Given the description of an element on the screen output the (x, y) to click on. 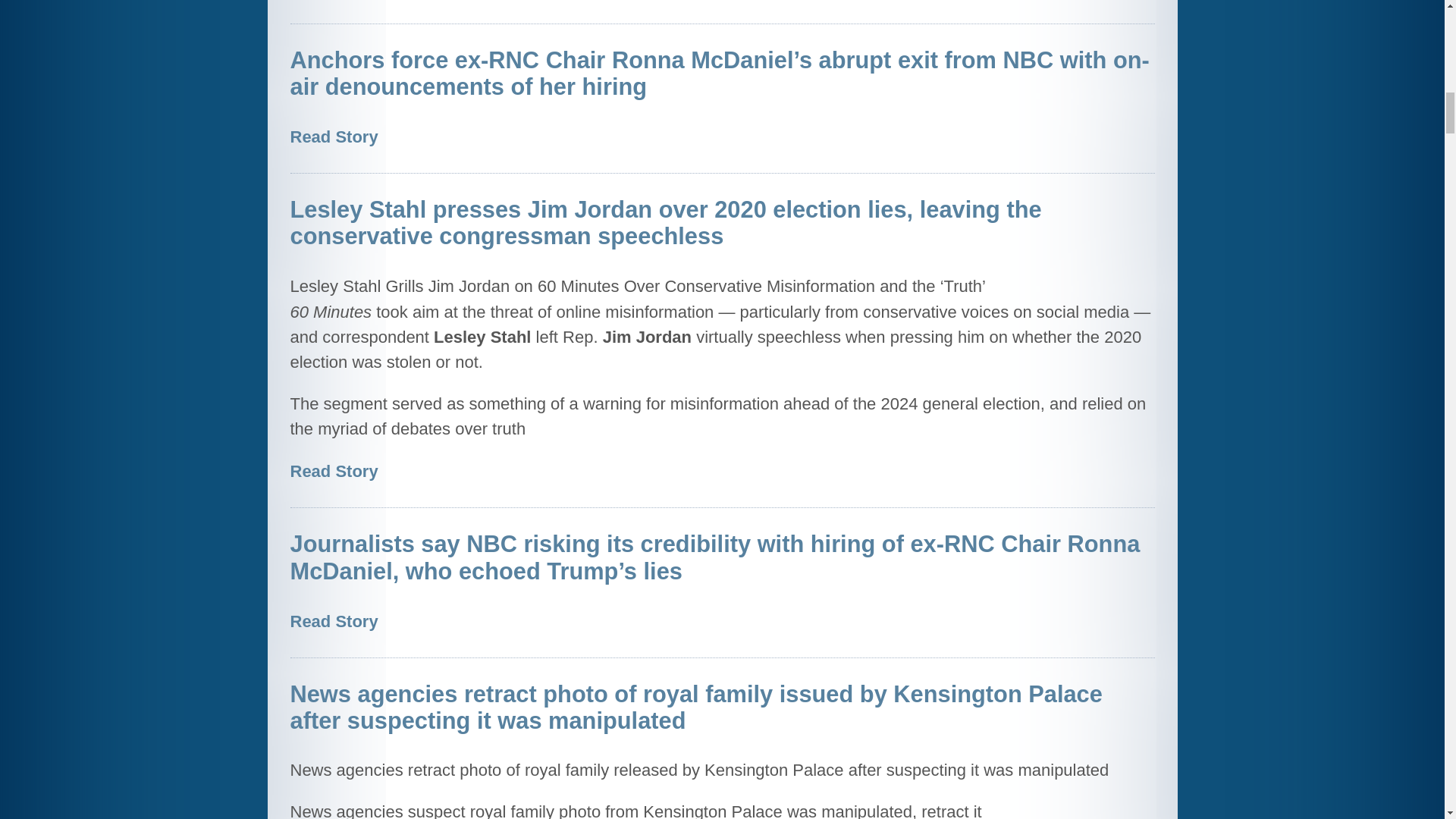
Read Story (333, 470)
Read Story (333, 620)
Read Story (333, 136)
